Given the description of an element on the screen output the (x, y) to click on. 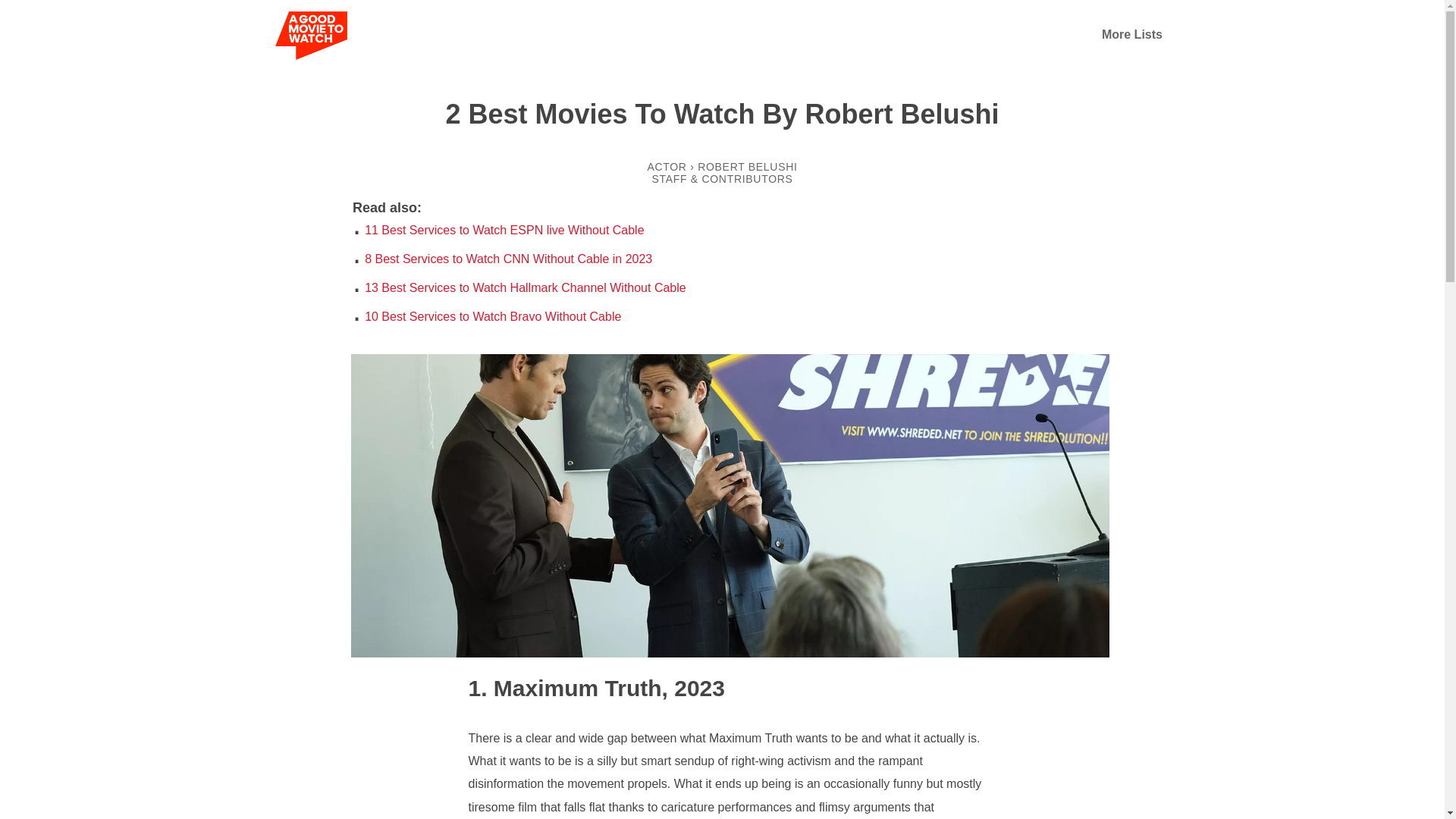
Maximum Truth (565, 687)
More Lists (1132, 34)
